Given the description of an element on the screen output the (x, y) to click on. 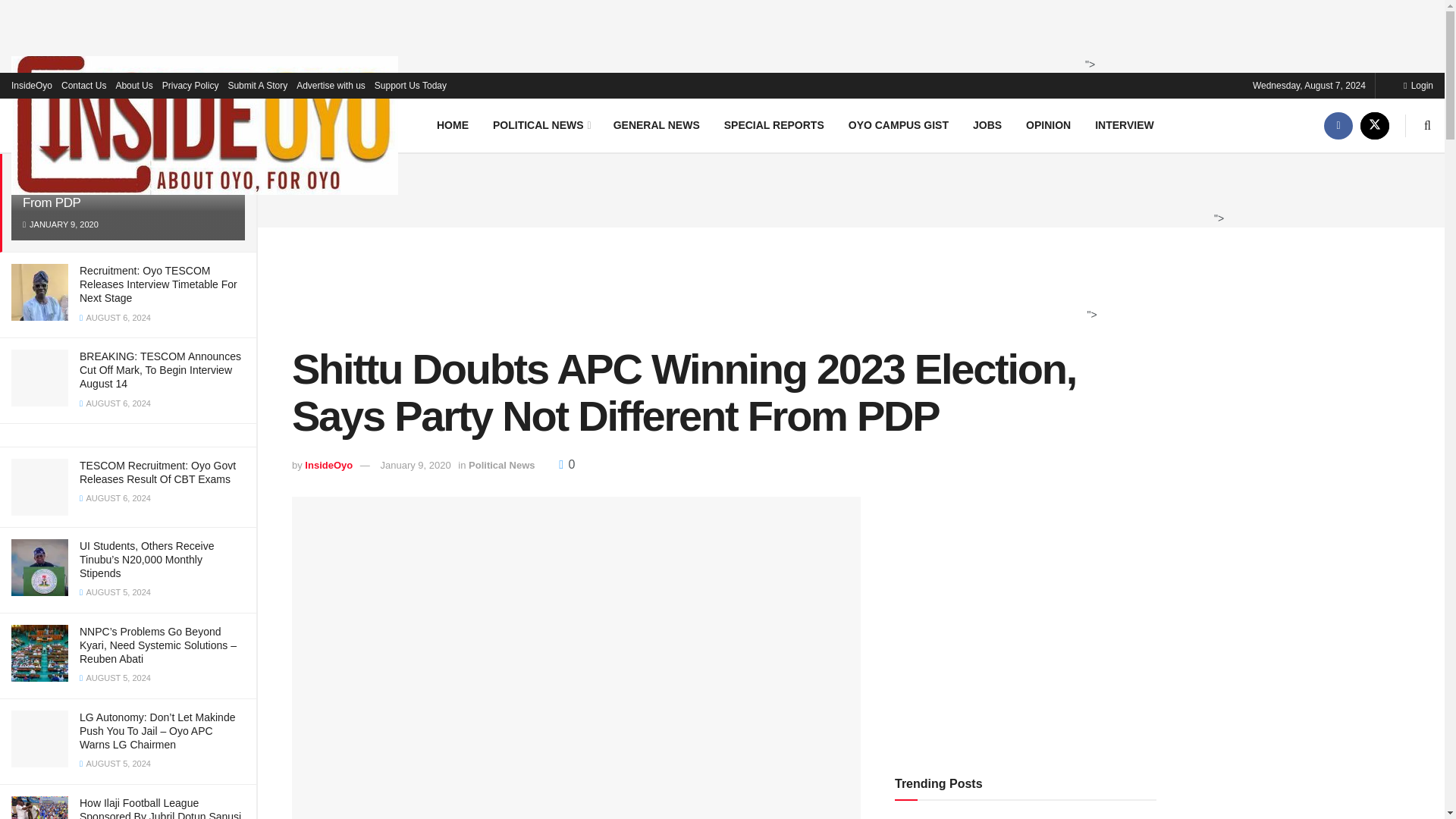
Login (1417, 85)
TESCOM Recruitment: Oyo Govt Releases Result Of CBT Exams (157, 472)
POLITICAL NEWS (540, 125)
Filter (227, 96)
Contact Us (83, 85)
InsideOyo (31, 85)
Submit A Story (256, 85)
Privacy Policy (190, 85)
